Given the description of an element on the screen output the (x, y) to click on. 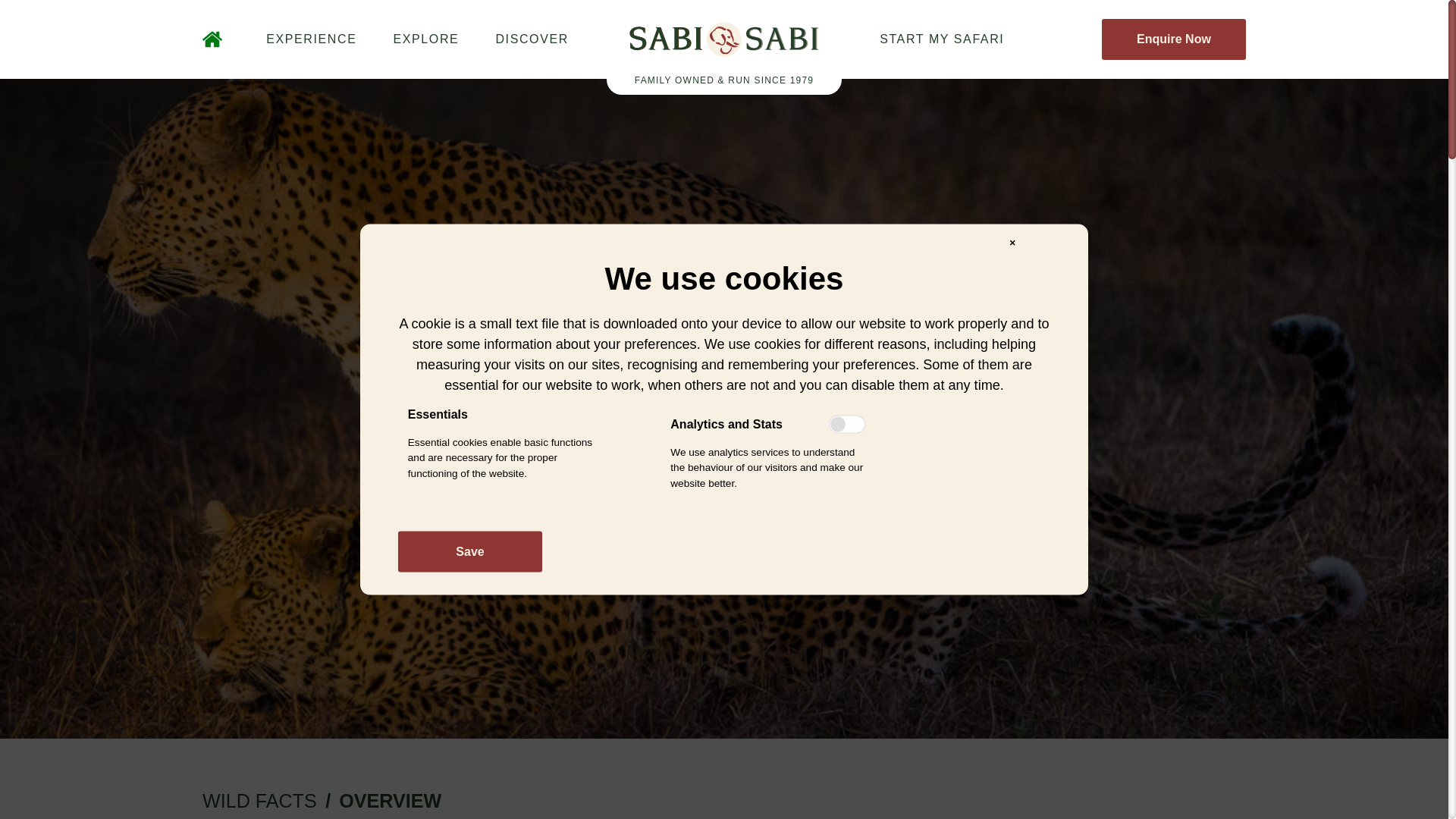
brand.svg (723, 39)
